Given the description of an element on the screen output the (x, y) to click on. 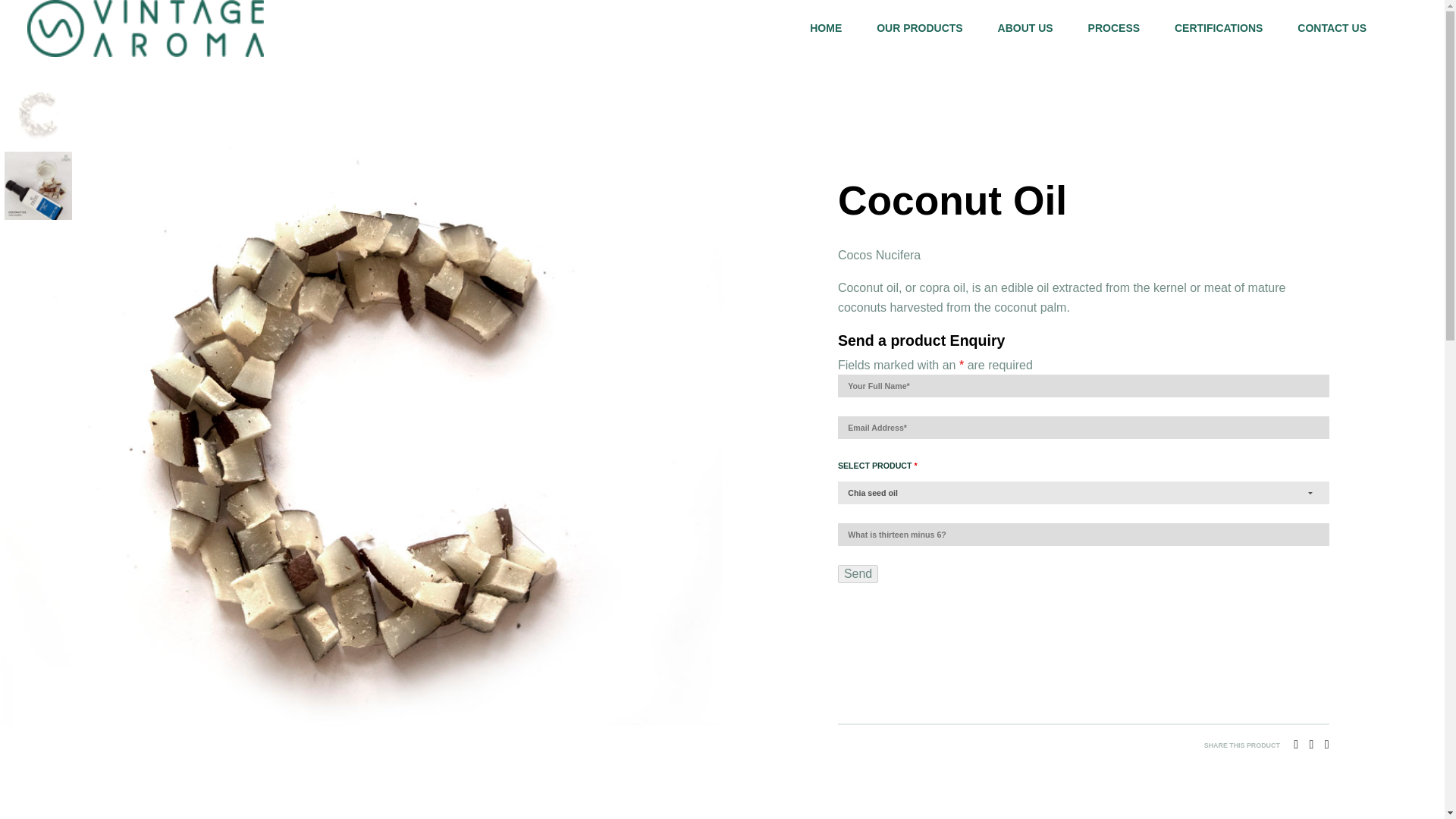
CONTACT US (1332, 27)
CERTIFICATIONS (1217, 27)
coconut (38, 113)
Send (857, 574)
